Given the description of an element on the screen output the (x, y) to click on. 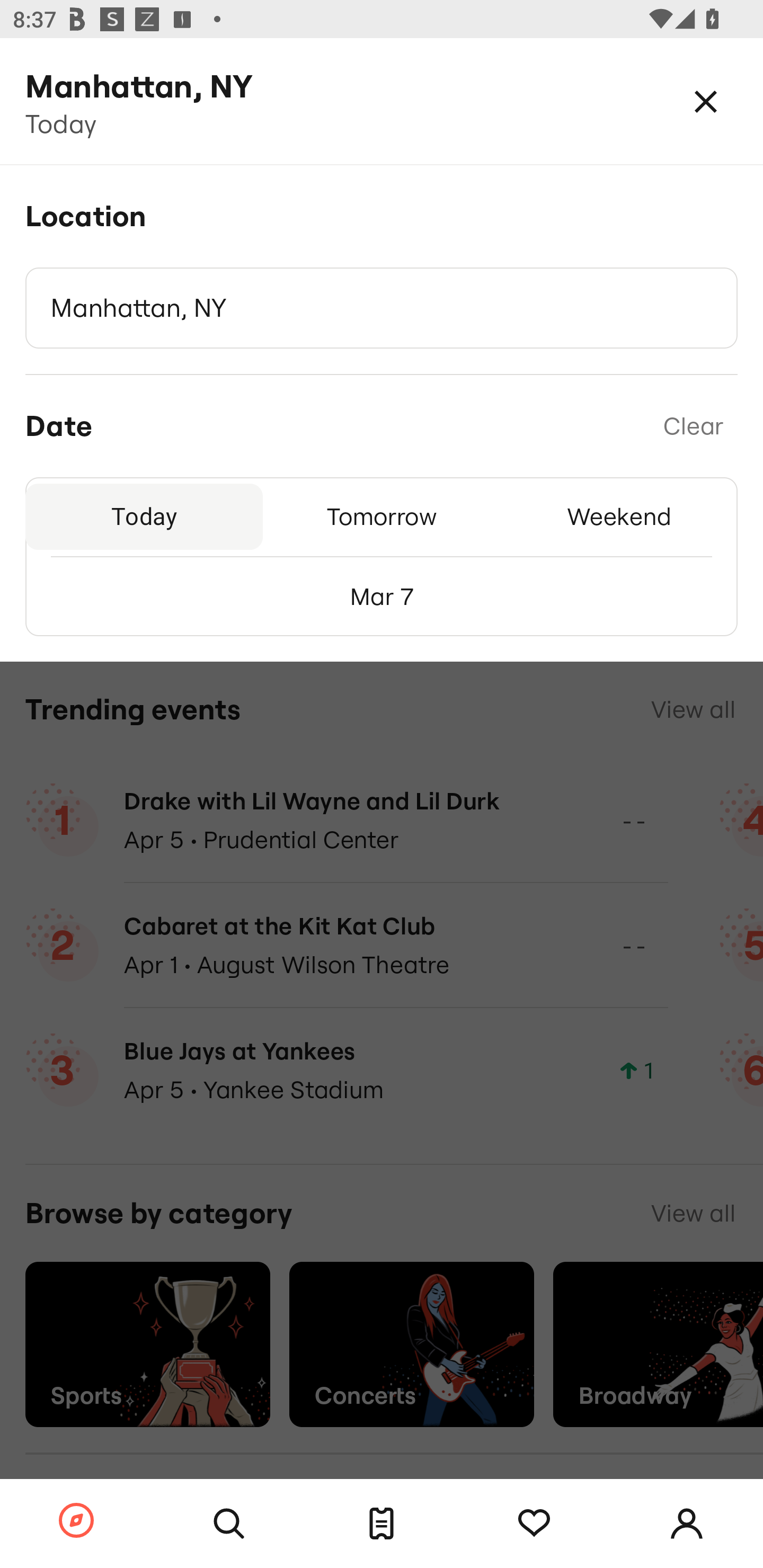
Close (705, 100)
Manhattan, NY (381, 308)
Clear (693, 426)
Today (143, 516)
Tomorrow (381, 516)
Weekend (618, 516)
Mar 7 (381, 596)
Browse (76, 1521)
Search (228, 1523)
Tickets (381, 1523)
Tracking (533, 1523)
Account (686, 1523)
